Given the description of an element on the screen output the (x, y) to click on. 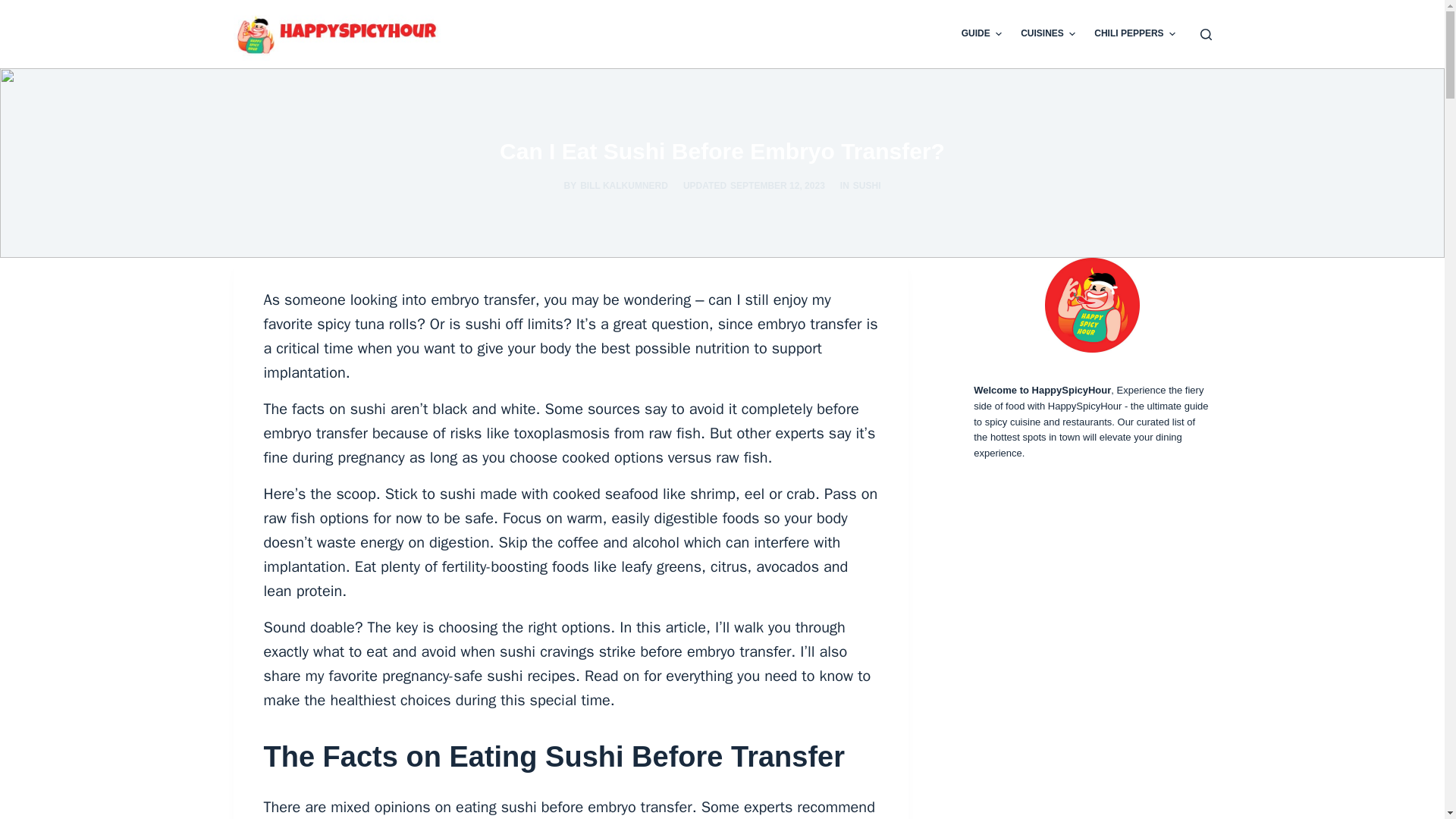
CHILI PEPPERS (1134, 33)
Can I Eat Sushi Before Embryo Transfer? (722, 151)
BILL KALKUMNERD (623, 185)
CUISINES (1047, 33)
Skip to content (15, 7)
Posts by Bill Kalkumnerd (623, 185)
SUSHI (866, 185)
